Given the description of an element on the screen output the (x, y) to click on. 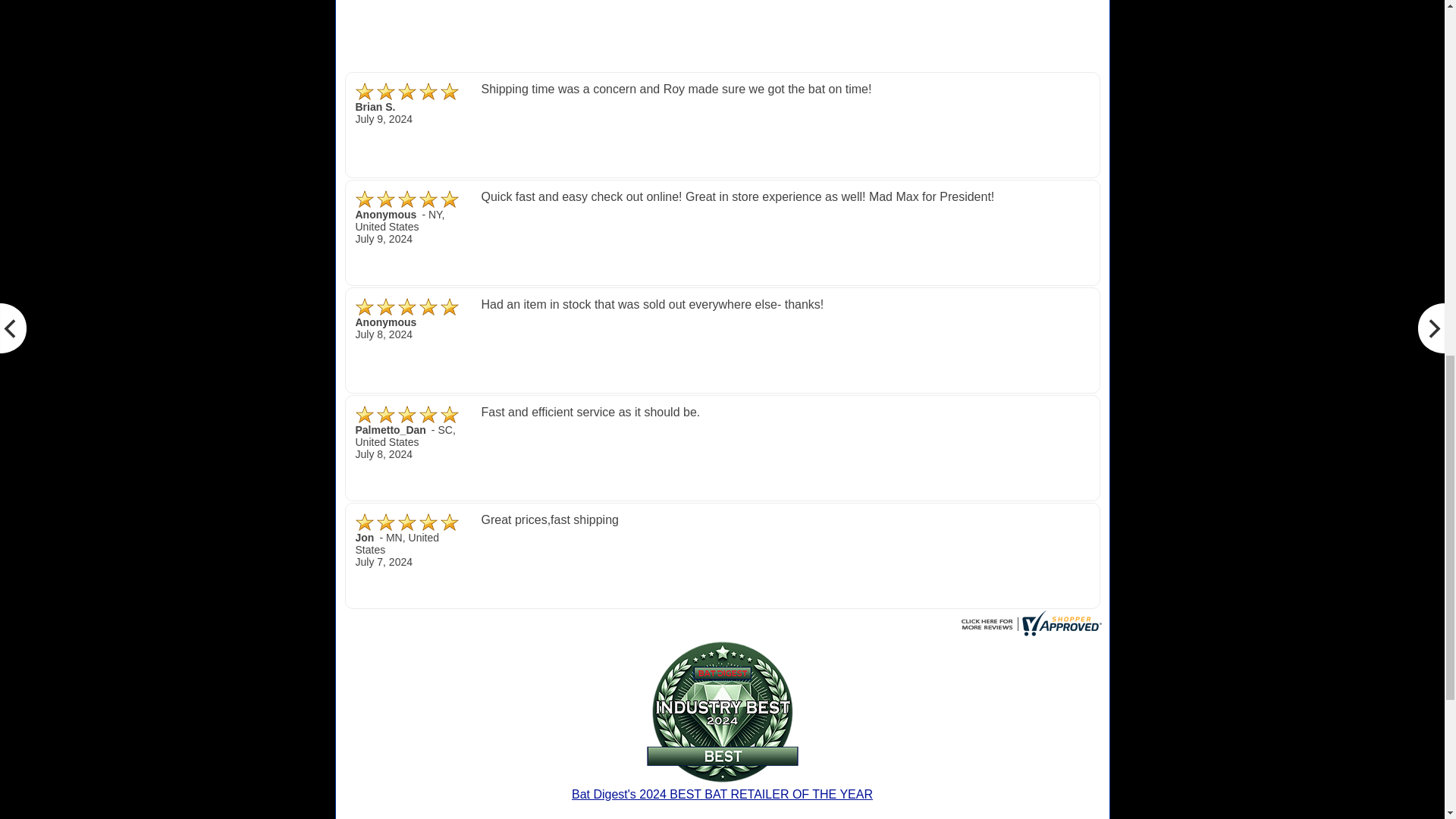
Bat Digest's 2024 BEST BAT RETAILER OF THE YEAR (722, 788)
